Given the description of an element on the screen output the (x, y) to click on. 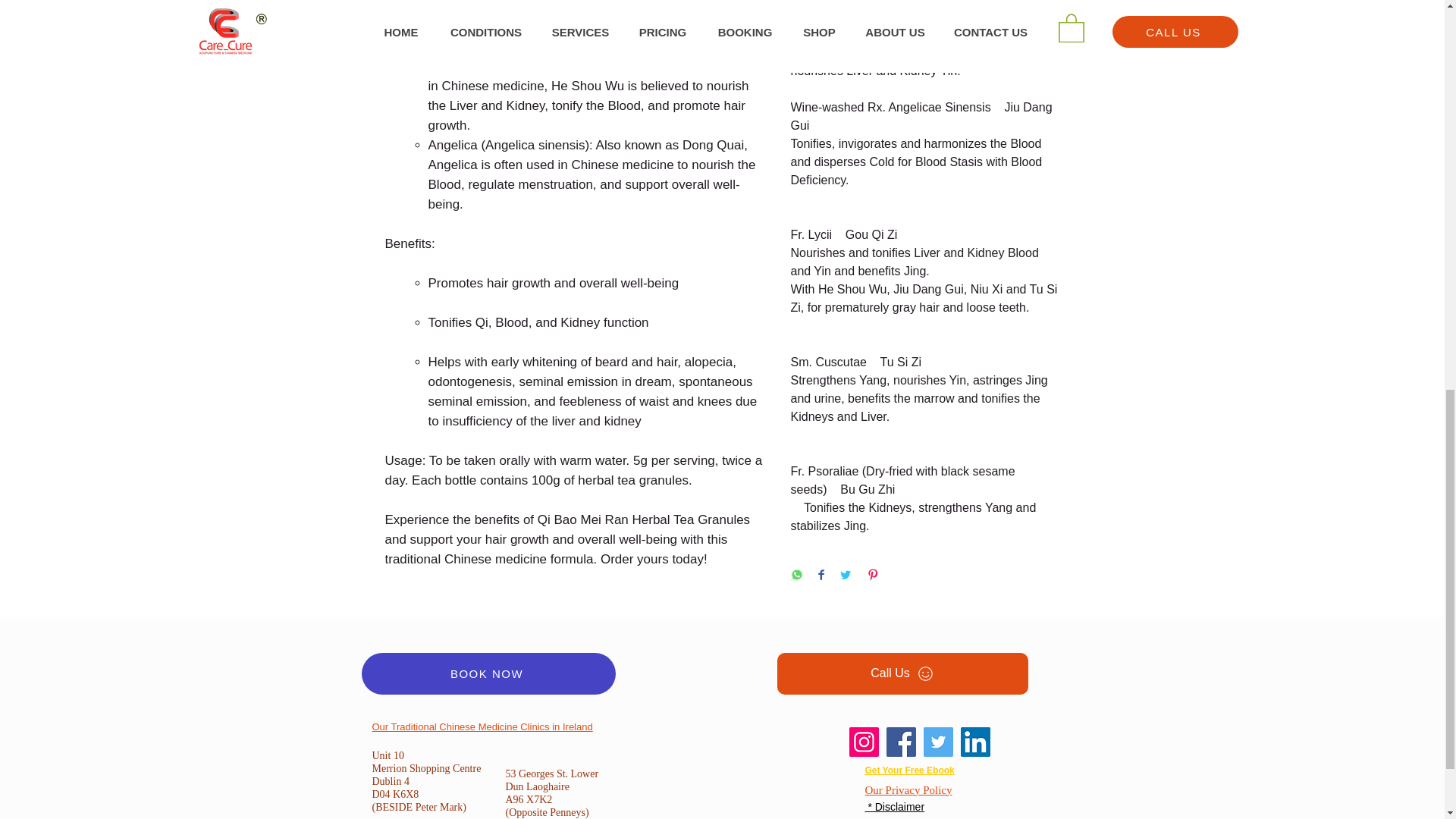
BOOK NOW (487, 673)
